Given the description of an element on the screen output the (x, y) to click on. 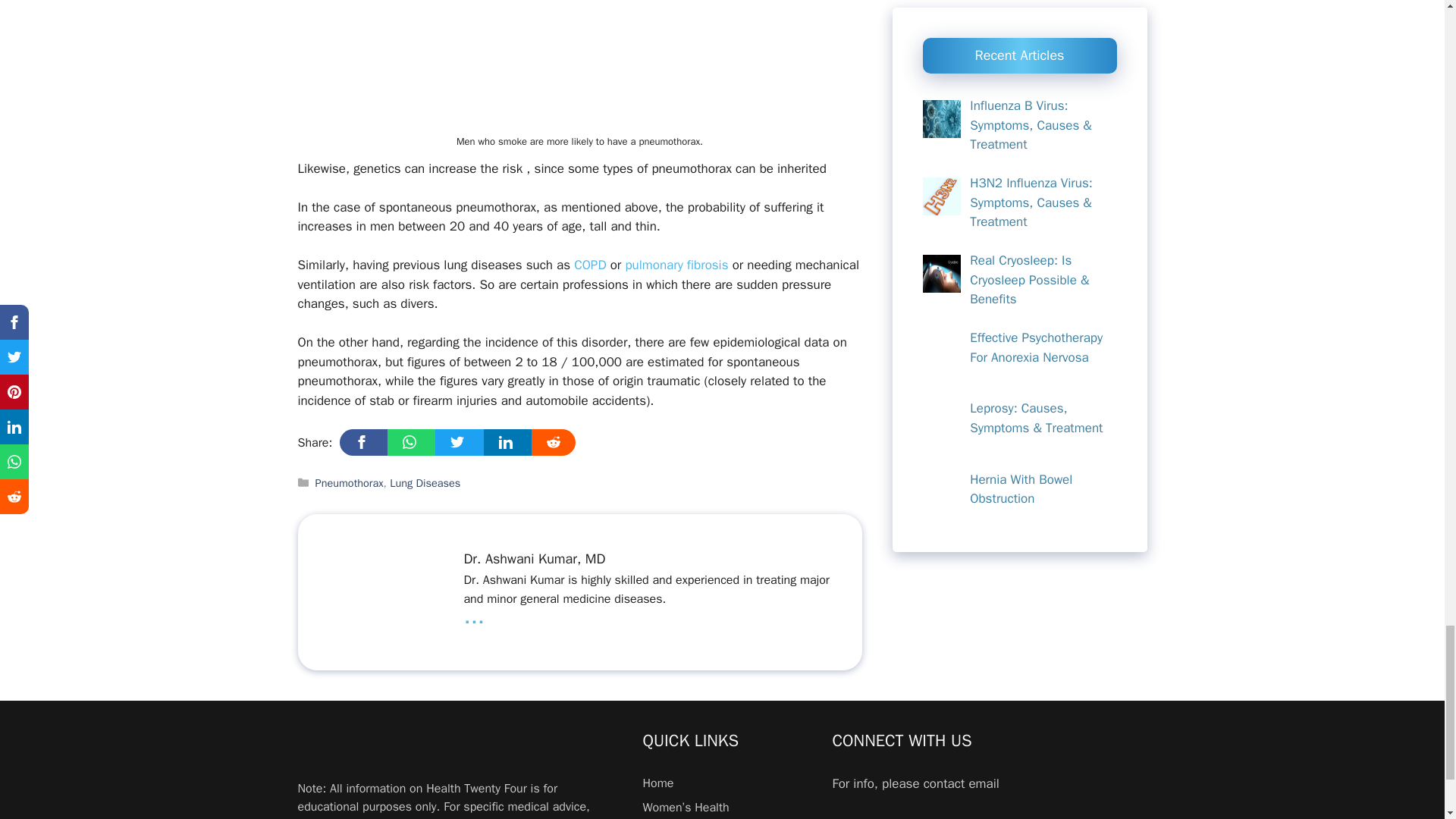
Pneumothorax (349, 482)
Lung Diseases (425, 482)
COPD (589, 264)
Men who smoke are more likely to have a pneumothorax. (579, 64)
pulmonary fibrosis (678, 264)
... (473, 615)
Read more about this author (473, 615)
